Given the description of an element on the screen output the (x, y) to click on. 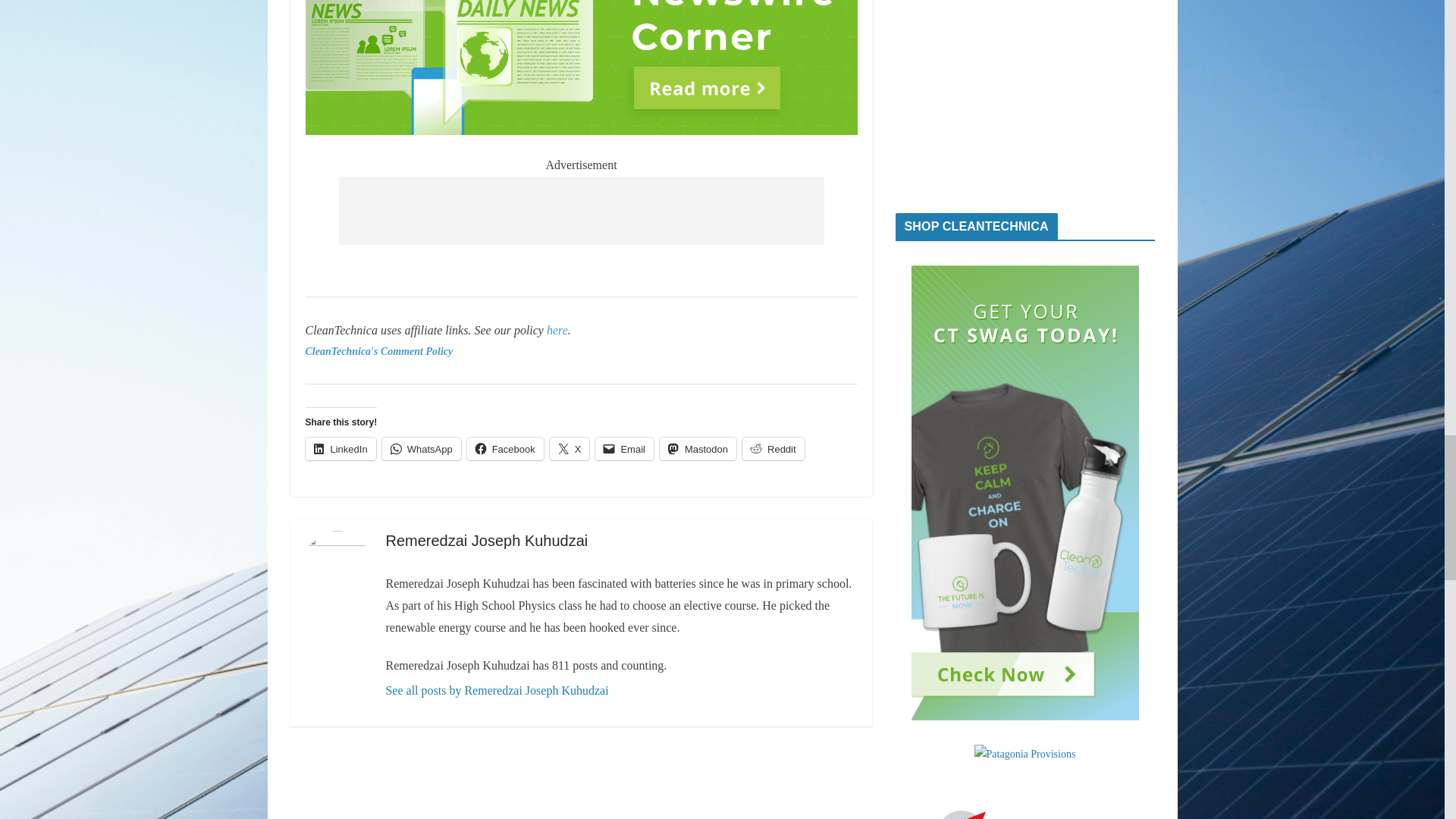
Click to share on Reddit (773, 448)
Click to share on Facebook (505, 448)
Click to email a link to a friend (624, 448)
Click to share on WhatsApp (421, 448)
Click to share on X (569, 448)
Click to share on LinkedIn (339, 448)
Click to share on Mastodon (697, 448)
